Given the description of an element on the screen output the (x, y) to click on. 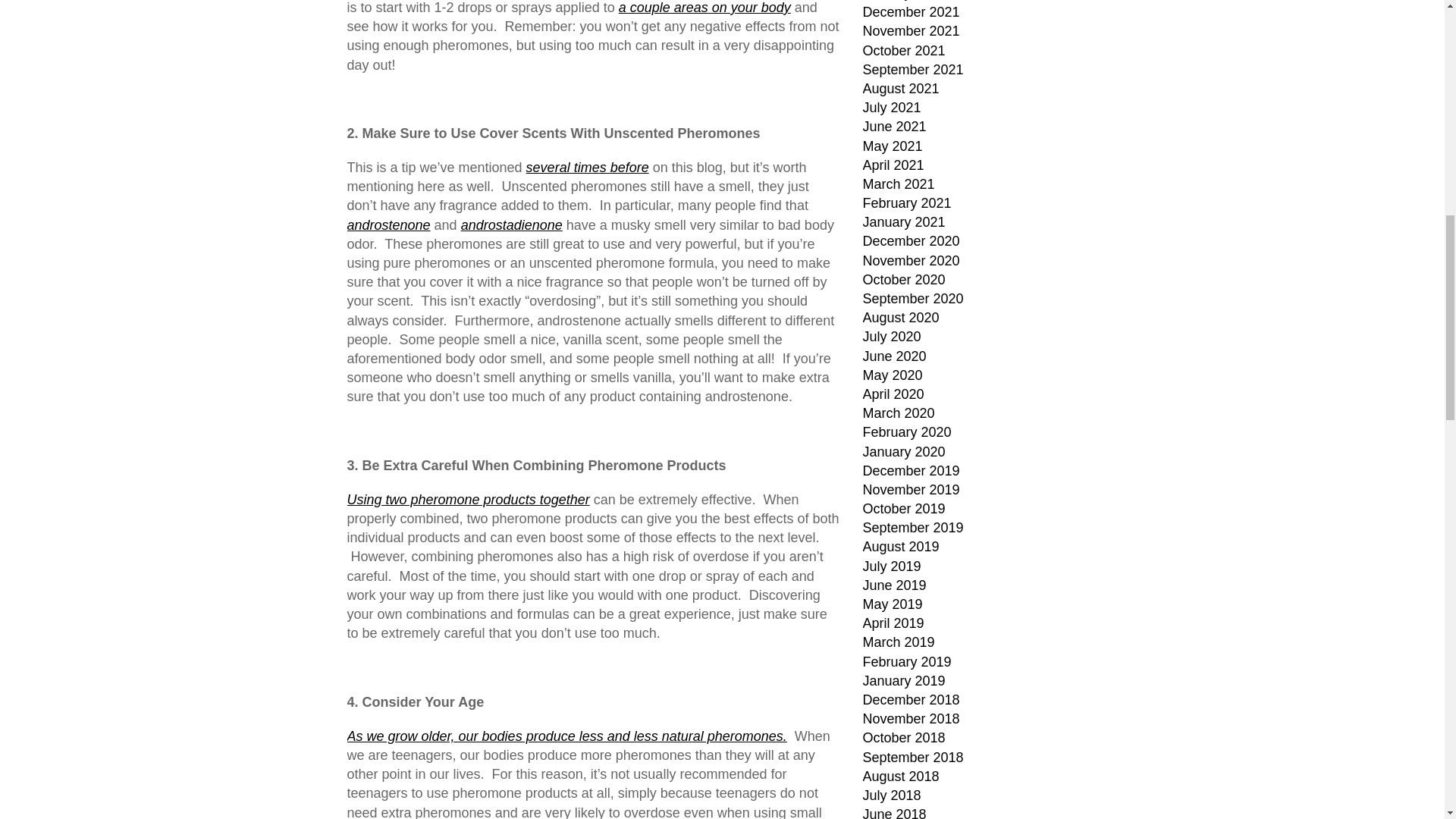
a couple areas on your body (704, 7)
several times before (587, 167)
Using two pheromone products together (468, 499)
androstenone (388, 224)
androstadienone (511, 224)
